Given the description of an element on the screen output the (x, y) to click on. 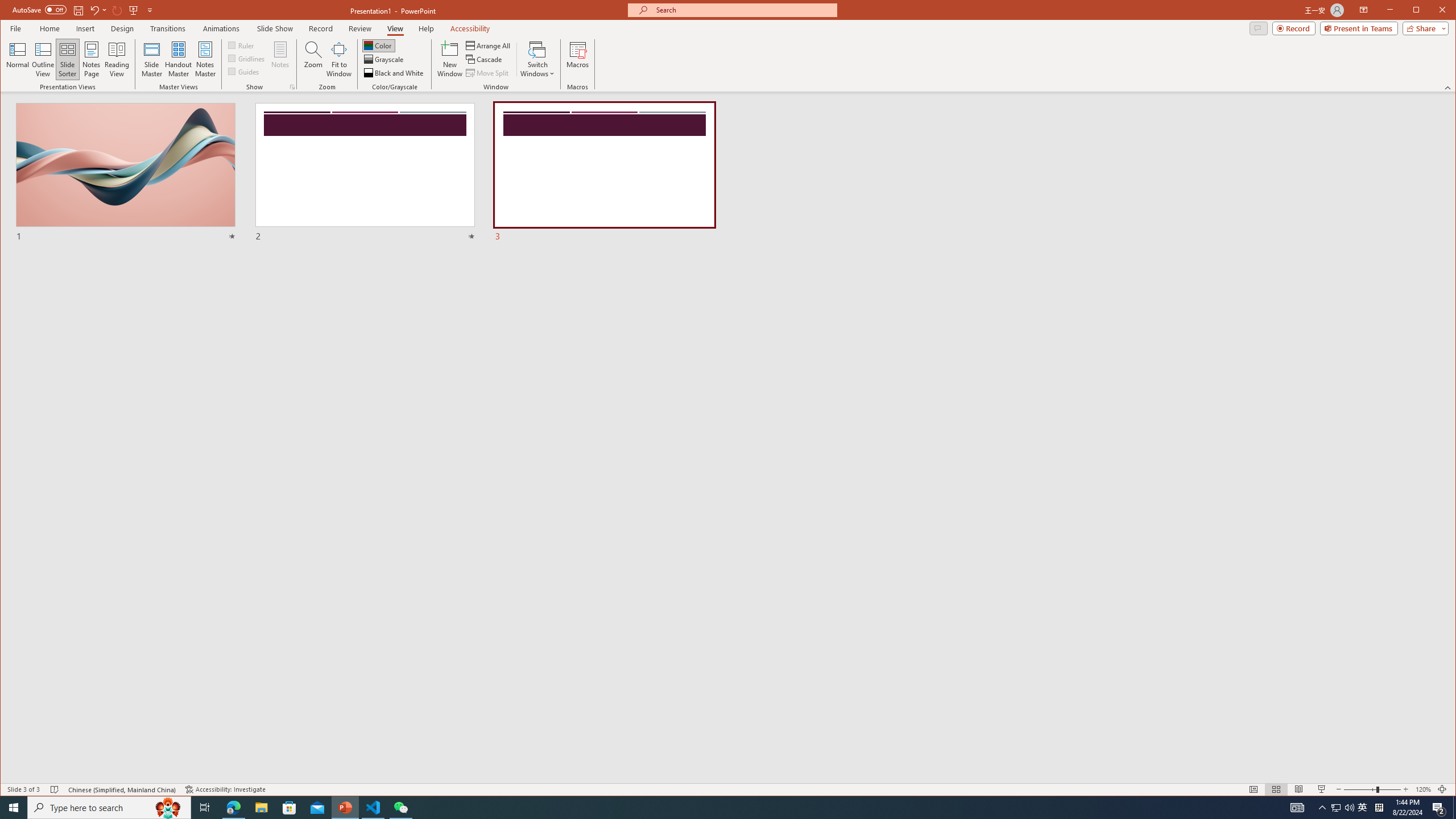
New Window (450, 59)
Black and White (394, 72)
Grayscale (384, 59)
Slide Master (151, 59)
Gridlines (246, 57)
